Given the description of an element on the screen output the (x, y) to click on. 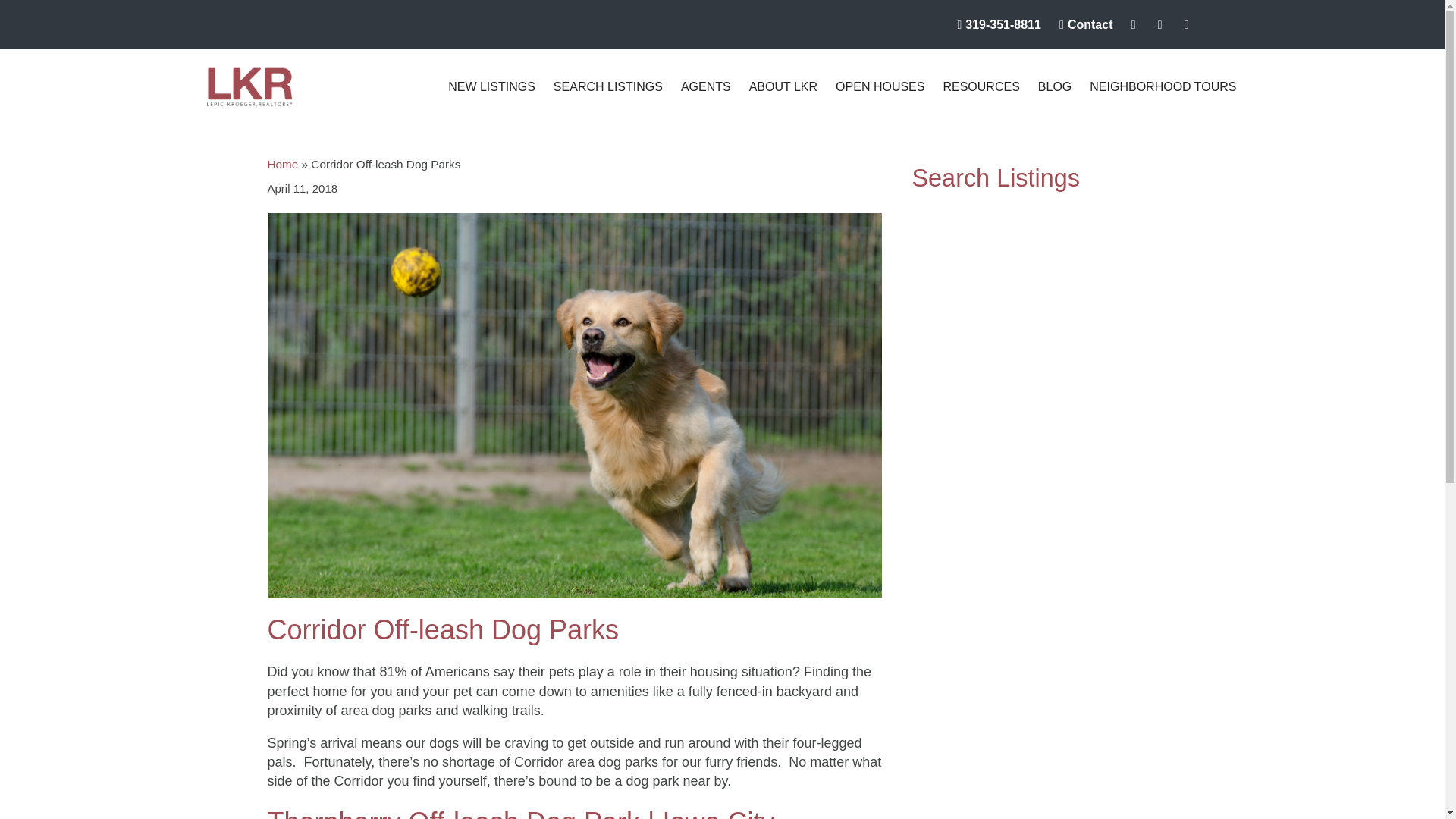
ABOUT LKR (783, 86)
Contact (1080, 24)
NEW LISTINGS (491, 86)
BLOG (1054, 86)
OPEN HOUSES (880, 86)
LKR Facebook page link (1130, 24)
AGENTS (705, 86)
LKR LinkedIn page link (1156, 24)
NEIGHBORHOOD TOURS (1162, 86)
319-351-8811 (993, 24)
SEARCH LISTINGS (607, 86)
LKR Instagram page link (1182, 24)
RESOURCES (980, 86)
